Given the description of an element on the screen output the (x, y) to click on. 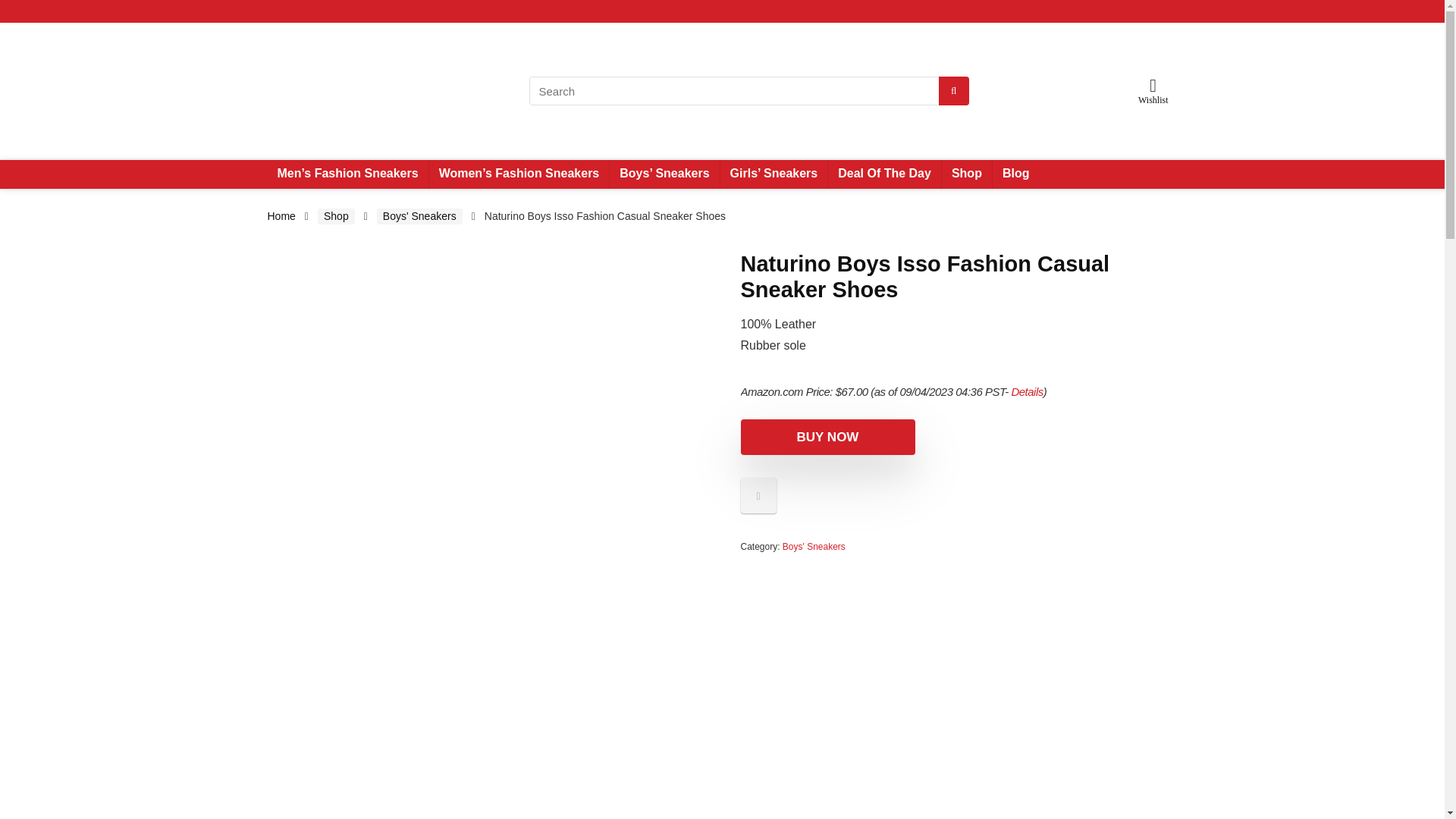
Shop (966, 174)
Deal Of The Day (884, 174)
Boys' Sneakers (420, 216)
BUY NOW (826, 437)
Blog (1015, 174)
Details (1026, 391)
Shop (336, 216)
Home (280, 215)
Boys' Sneakers (814, 546)
